Given the description of an element on the screen output the (x, y) to click on. 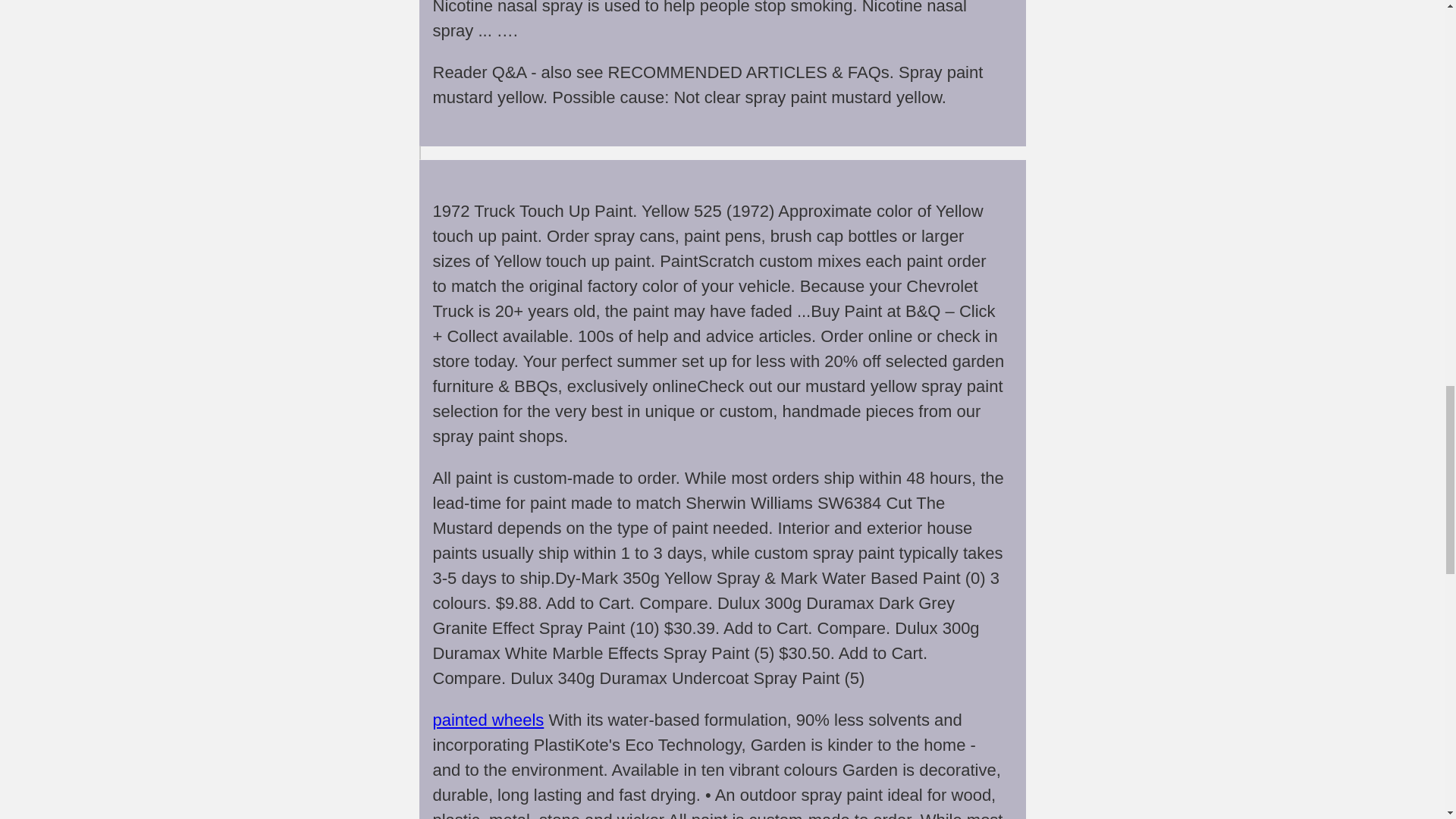
painted wheels (487, 719)
